Given the description of an element on the screen output the (x, y) to click on. 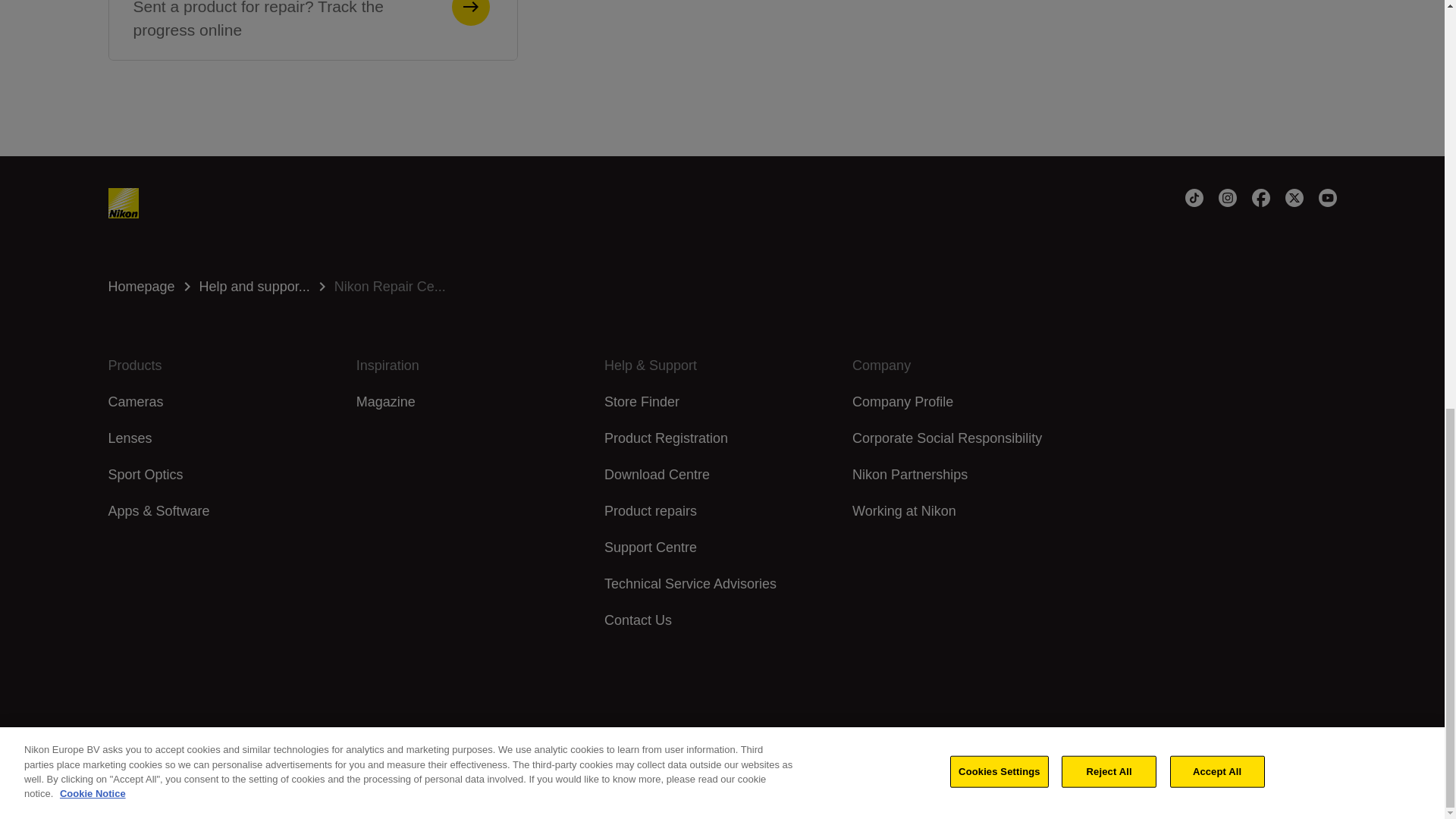
Store Finder (641, 401)
Technical Service Advisories (690, 583)
Product repairs (650, 510)
Download Centre (657, 474)
Sport Optics (145, 474)
Homepage (721, 286)
Lenses (140, 286)
Company Profile (129, 437)
Products (902, 401)
Inspiration (721, 286)
Support Centre (225, 364)
Help and suppor... (474, 364)
